Given the description of an element on the screen output the (x, y) to click on. 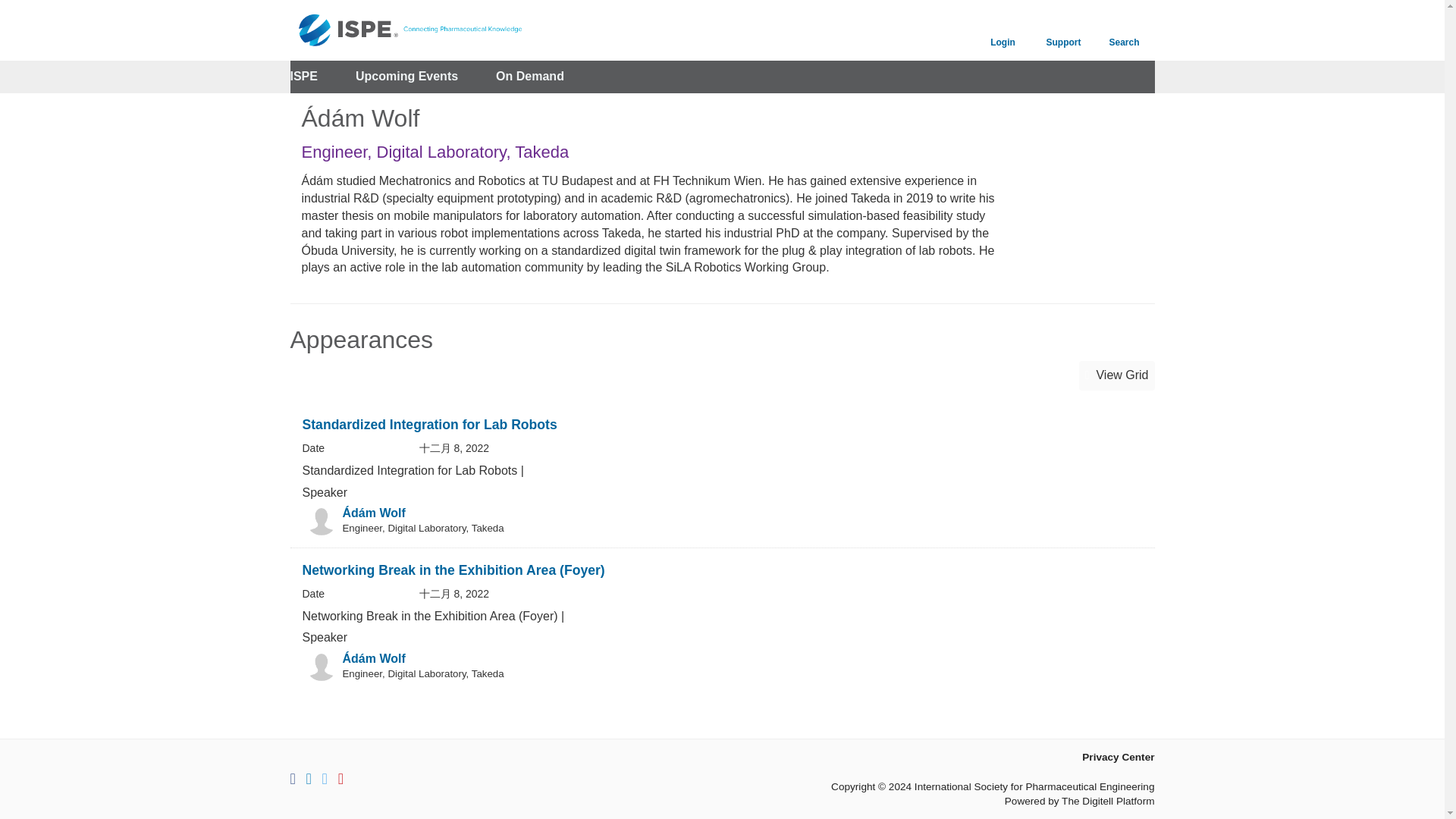
  View Grid (1116, 375)
Upcoming Events (406, 76)
Support (1062, 30)
ISPE (303, 76)
On Demand (530, 76)
Login (1002, 30)
Login (1002, 30)
Privacy Center (1117, 756)
Search (1123, 30)
Standardized Integration for Lab Robots (428, 424)
Search (1123, 30)
Support (1062, 30)
